Given the description of an element on the screen output the (x, y) to click on. 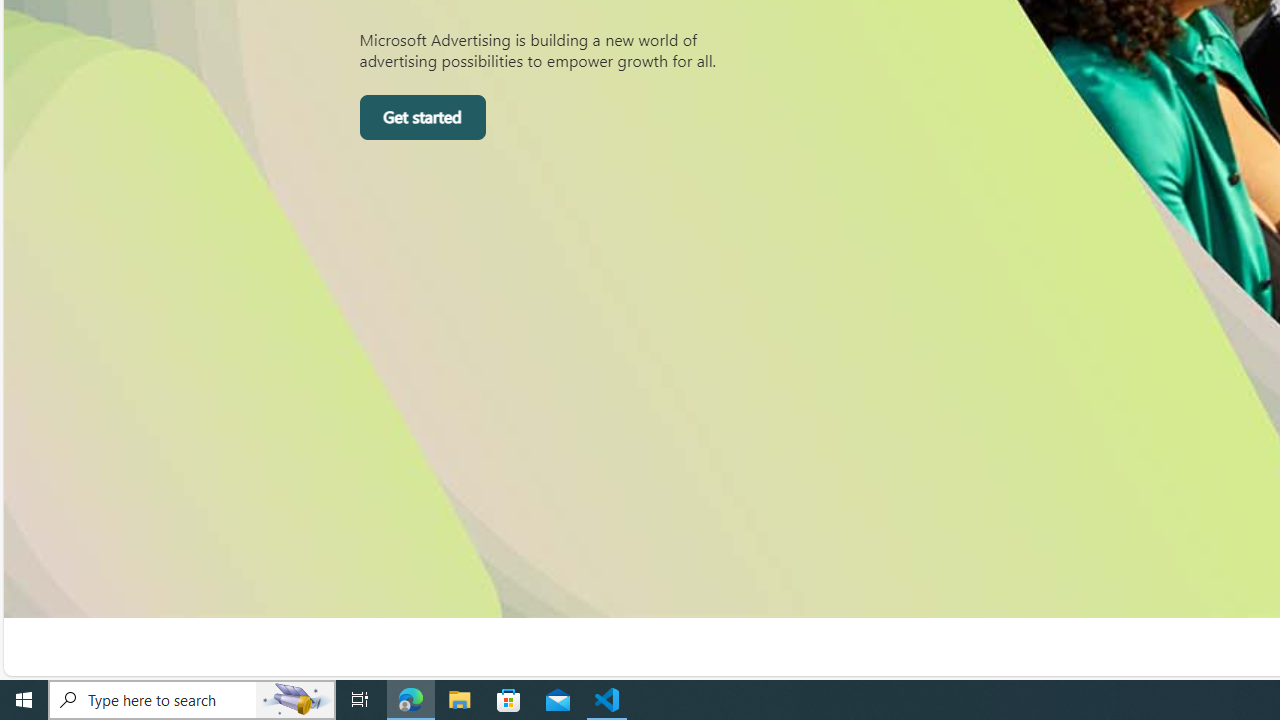
Get started (422, 118)
